Given the description of an element on the screen output the (x, y) to click on. 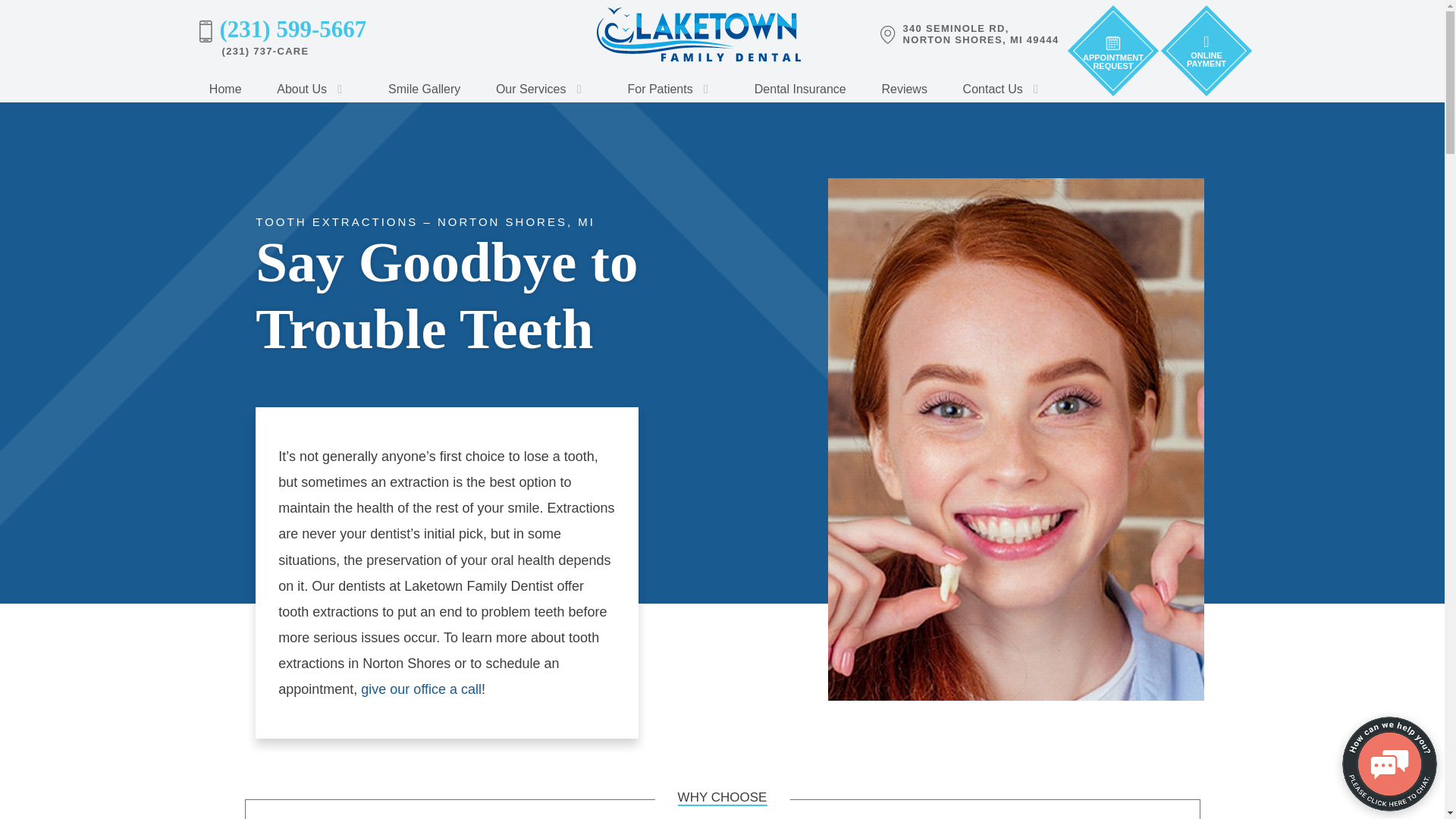
Dental Services (969, 34)
Home (544, 88)
Dentist Norton Shores, MI (224, 88)
About Us (224, 88)
Smile Gallery (315, 88)
Our Services (425, 88)
About Us (544, 88)
Smile Gallery (315, 88)
